Given the description of an element on the screen output the (x, y) to click on. 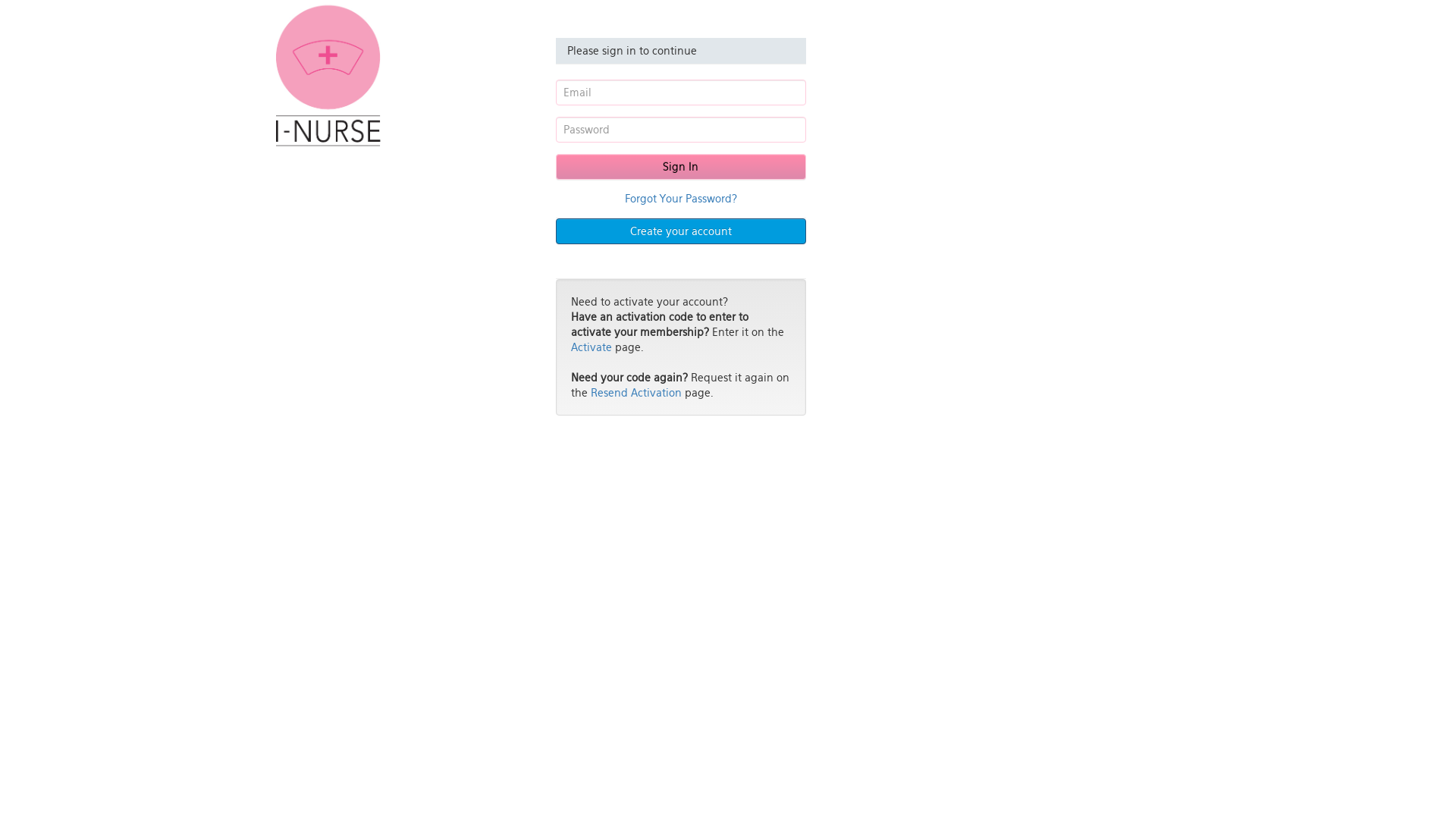
Forgot Your Password? Element type: text (680, 198)
Activate Element type: text (590, 347)
Resend Activation Element type: text (634, 392)
Sign In Element type: text (680, 166)
Create your account Element type: text (680, 231)
